Given the description of an element on the screen output the (x, y) to click on. 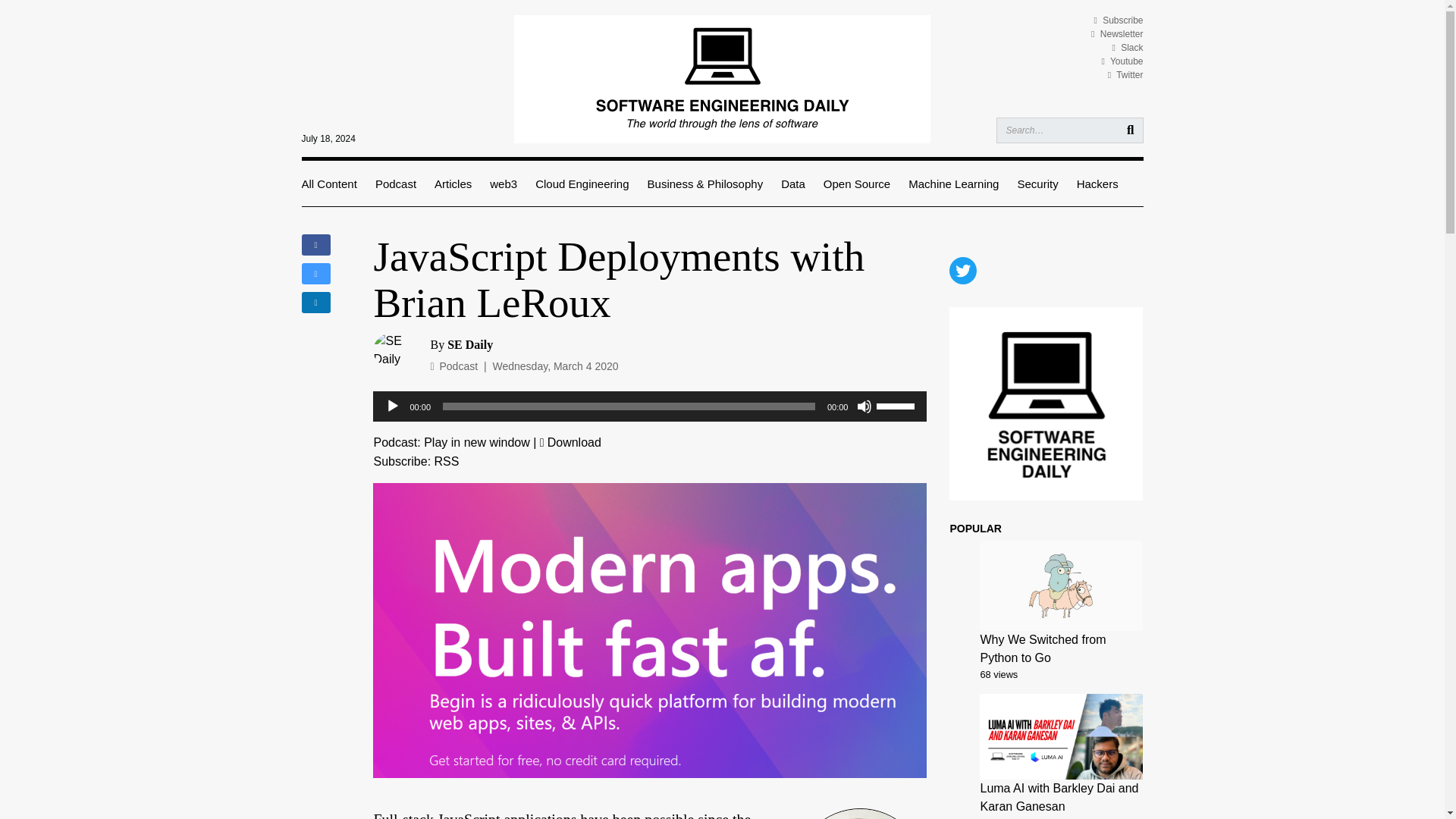
SE Daily (469, 344)
Youtube (1121, 60)
Mute (864, 406)
Hackers (1097, 183)
Play (392, 406)
Posts by SE Daily (469, 344)
Articles (452, 183)
Search (1133, 129)
RSS (446, 461)
All Content (328, 183)
Newsletter (1116, 33)
Subscribe via RSS (446, 461)
Security (1037, 183)
Subscribe (1117, 20)
Data (792, 183)
